Given the description of an element on the screen output the (x, y) to click on. 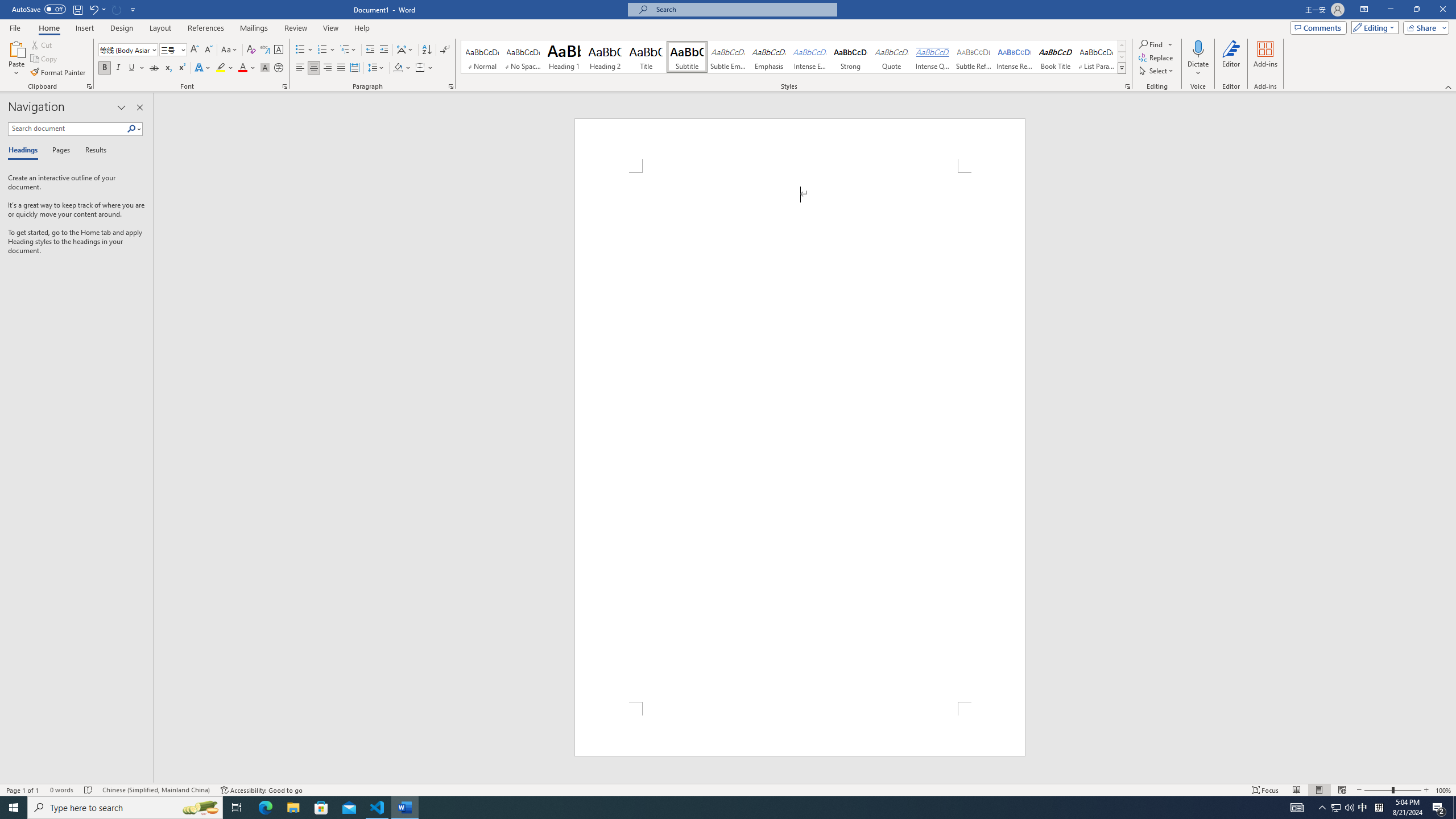
Heading 2 (605, 56)
AutomationID: QuickStylesGallery (794, 56)
